Given the description of an element on the screen output the (x, y) to click on. 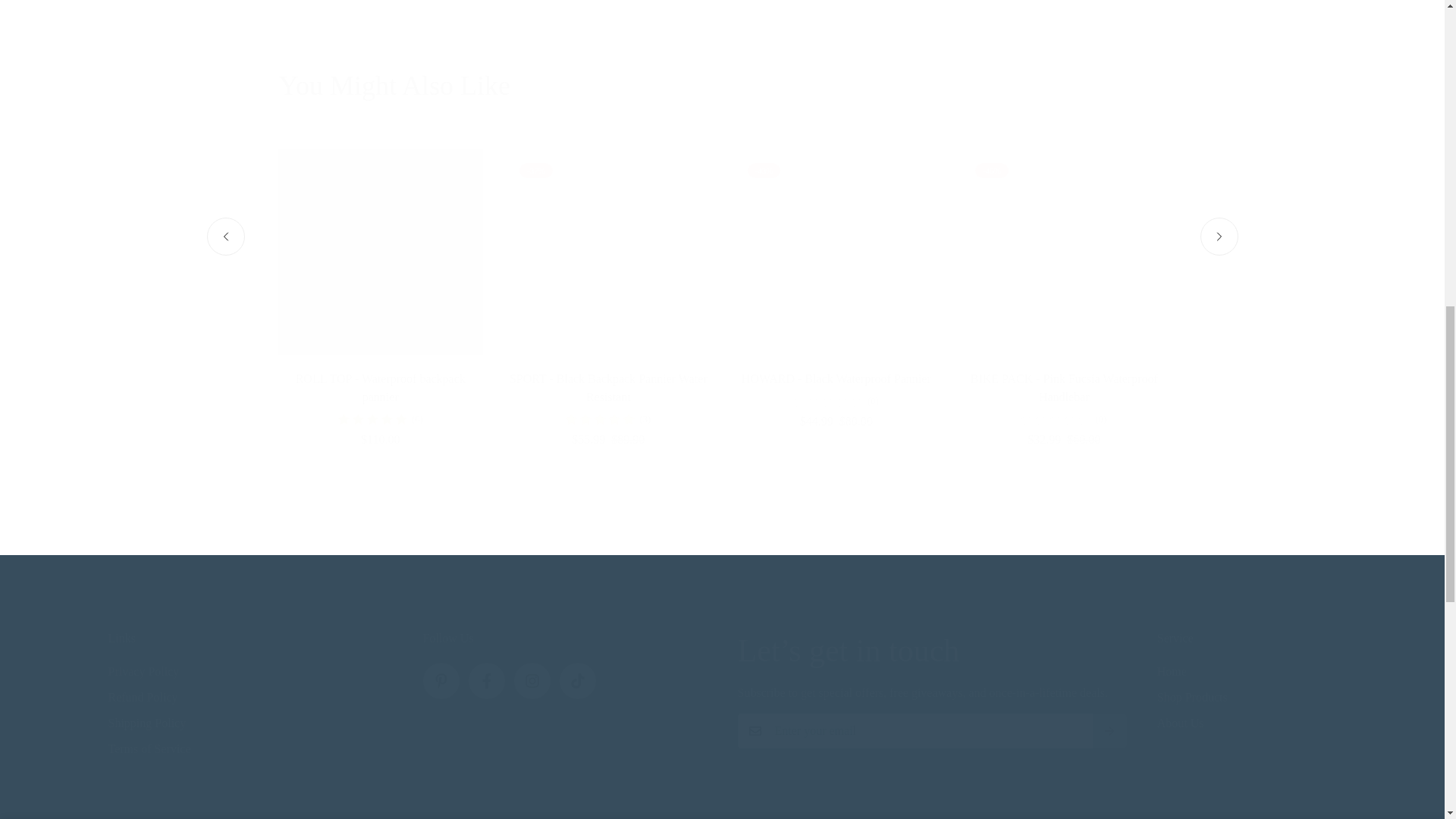
Follow Us (564, 665)
You Might Also Like (722, 85)
1 (1246, 682)
